Given the description of an element on the screen output the (x, y) to click on. 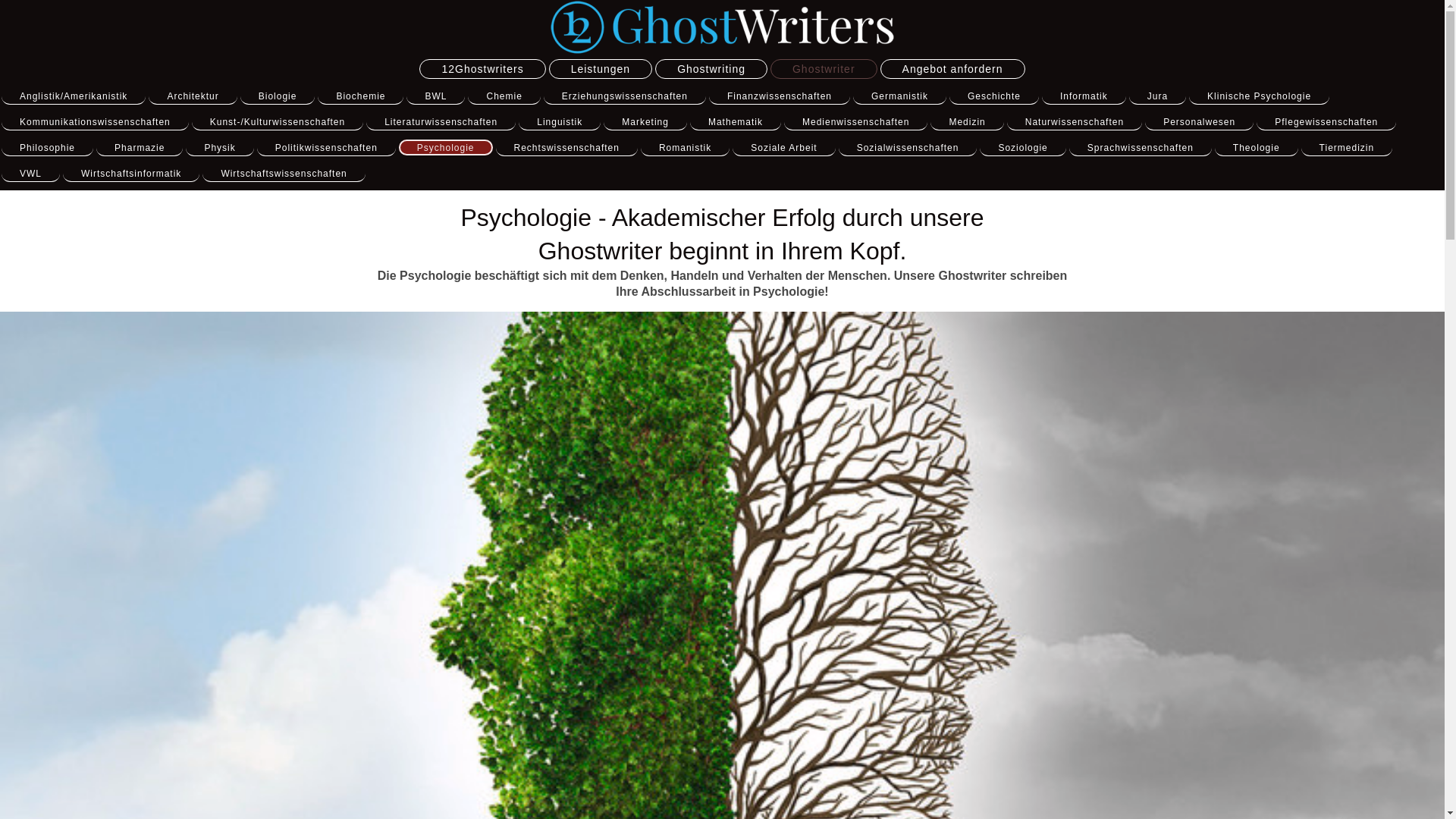
Architektur Element type: text (192, 95)
Angebot anfordern Element type: text (952, 68)
Kunst-/Kulturwissenschaften Element type: text (277, 121)
Pharmazie Element type: text (139, 147)
Ghostwriting Element type: text (711, 68)
Rechtswissenschaften Element type: text (566, 147)
Geschichte Element type: text (993, 95)
Naturwissenschaften Element type: text (1074, 121)
Biochemie Element type: text (360, 95)
Ghostwriter Element type: text (823, 68)
VWL Element type: text (30, 173)
Informatik Element type: text (1083, 95)
Tiermedizin Element type: text (1347, 147)
Finanzwissenschaften Element type: text (779, 95)
Philosophie Element type: text (47, 147)
Sprachwissenschaften Element type: text (1140, 147)
Theologie Element type: text (1256, 147)
Wirtschaftswissenschaften Element type: text (283, 173)
Physik Element type: text (219, 147)
Politikwissenschaften Element type: text (326, 147)
Soziale Arbeit Element type: text (783, 147)
Literaturwissenschaften Element type: text (440, 121)
Mathematik Element type: text (735, 121)
Leistungen Element type: text (600, 68)
Wirtschaftsinformatik Element type: text (130, 173)
Anglistik/Amerikanistik Element type: text (73, 95)
Marketing Element type: text (645, 121)
Sozialwissenschaften Element type: text (907, 147)
Kommunikationswissenschaften Element type: text (94, 121)
Medizin Element type: text (966, 121)
Biologie Element type: text (277, 95)
Jura Element type: text (1157, 95)
BWL Element type: text (435, 95)
Germanistik Element type: text (899, 95)
12Ghostwriters Element type: text (482, 68)
Klinische Psychologie Element type: text (1259, 95)
Linguistik Element type: text (559, 121)
Personalwesen Element type: text (1199, 121)
Soziologie Element type: text (1022, 147)
Medienwissenschaften Element type: text (855, 121)
Romanistik Element type: text (684, 147)
Chemie Element type: text (503, 95)
Psychologie Element type: text (445, 147)
Pflegewissenschaften Element type: text (1326, 121)
Erziehungswissenschaften Element type: text (624, 95)
